Given the description of an element on the screen output the (x, y) to click on. 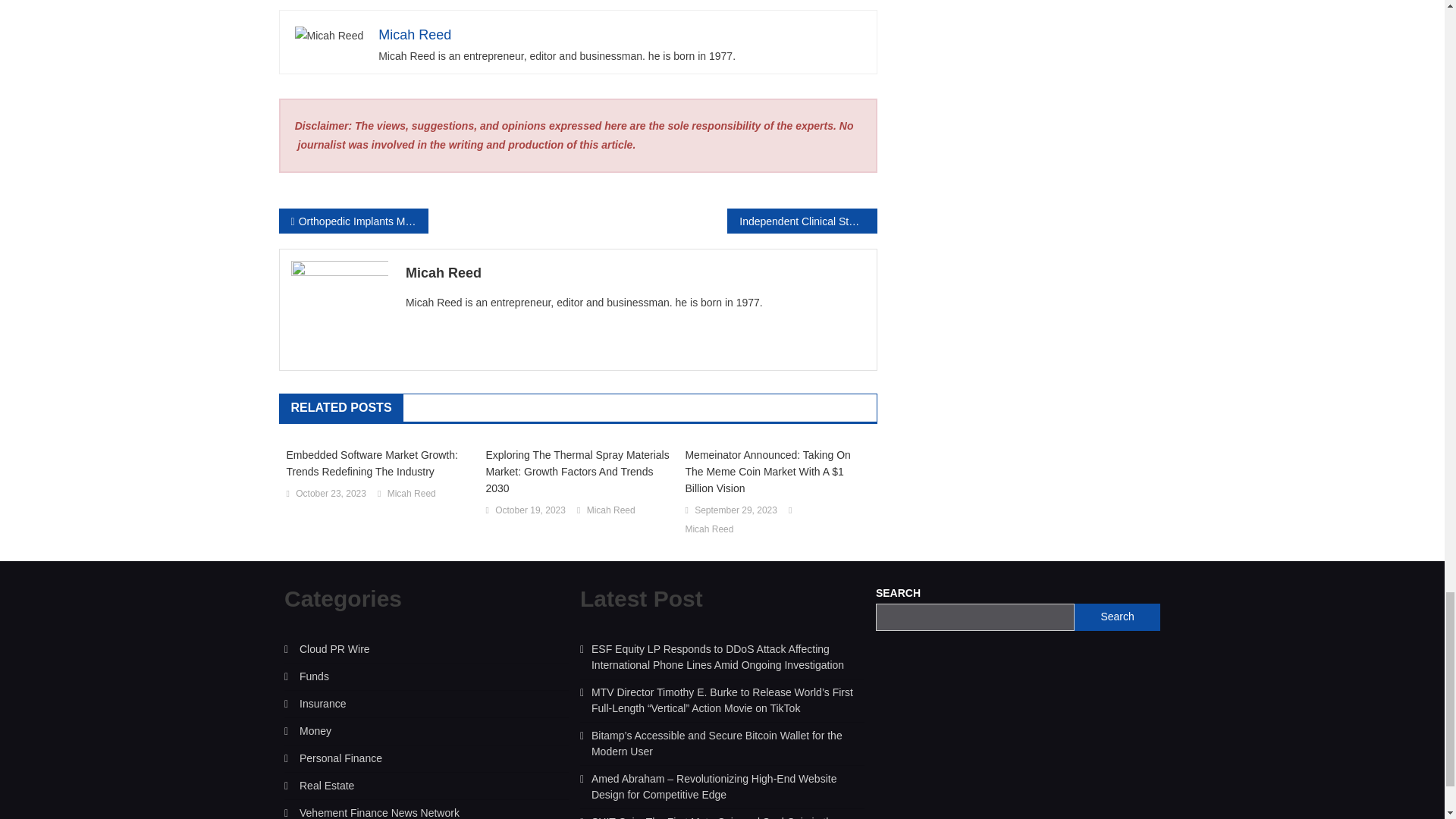
Micah Reed (635, 273)
October 19, 2023 (530, 510)
Micah Reed (411, 494)
October 23, 2023 (330, 494)
Micah Reed (414, 34)
